Given the description of an element on the screen output the (x, y) to click on. 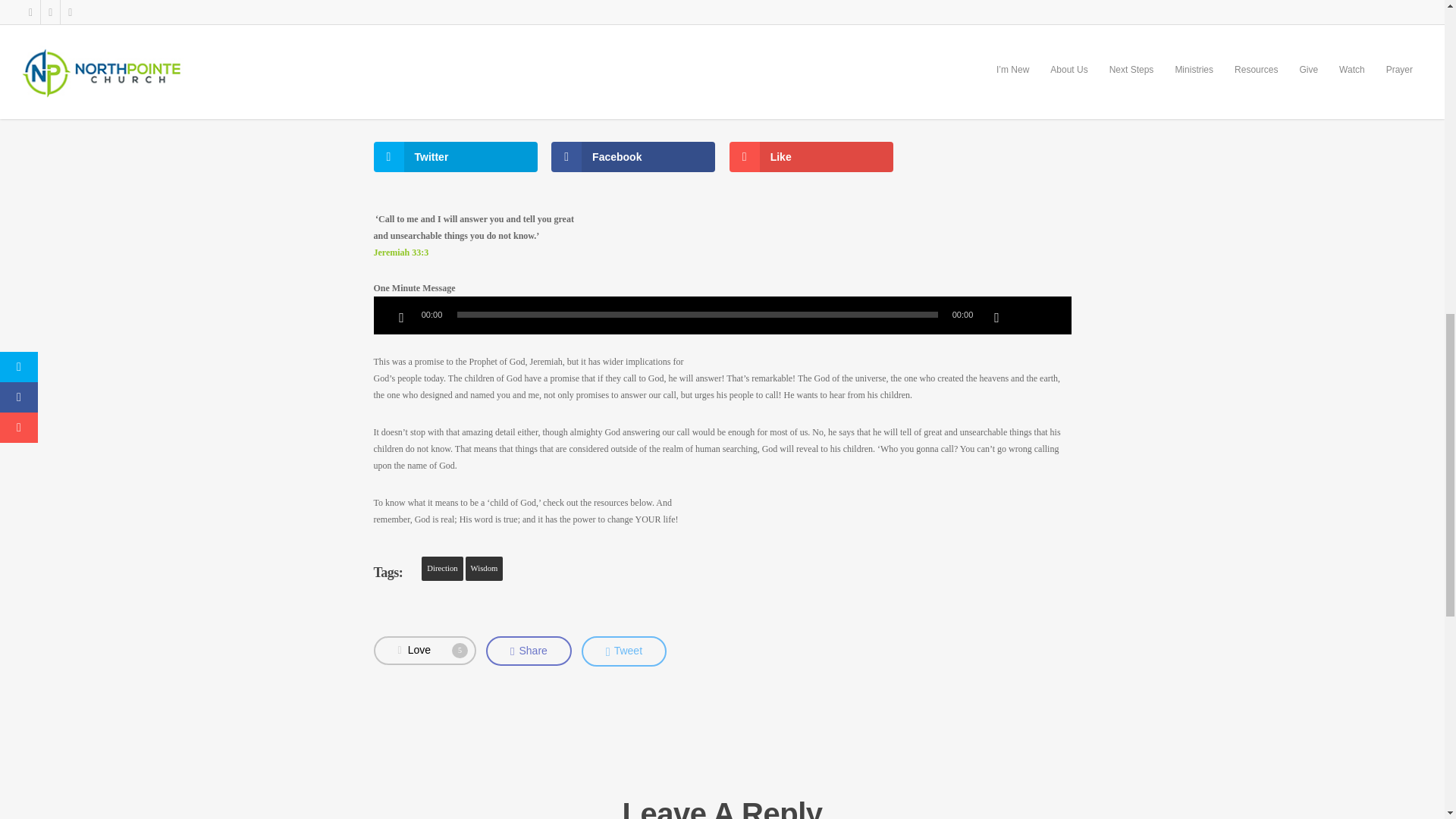
Tweet this (623, 651)
Share this (529, 651)
Love this (424, 650)
